Given the description of an element on the screen output the (x, y) to click on. 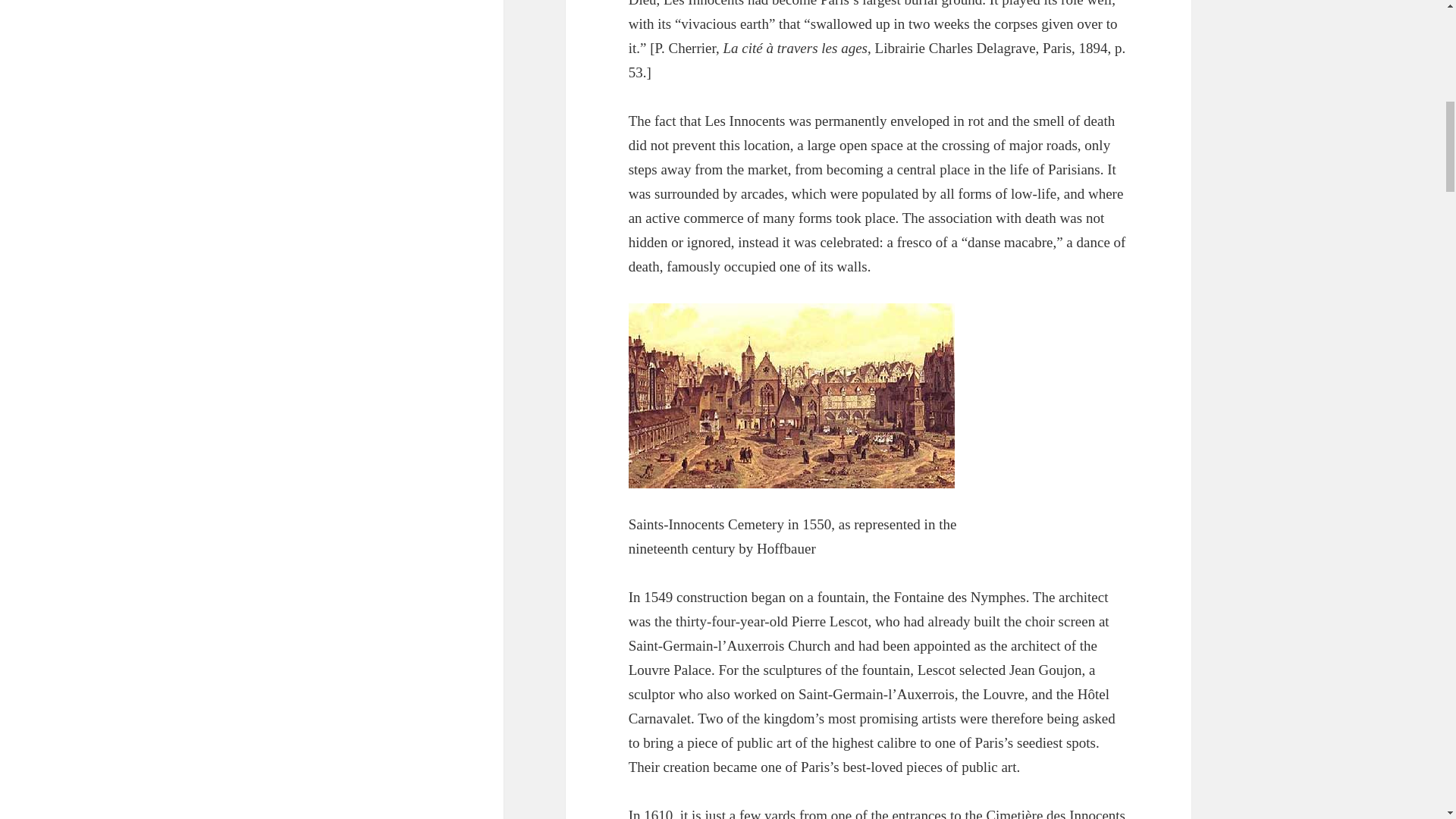
Saints-Innocents by Hoffbauer (791, 395)
